Given the description of an element on the screen output the (x, y) to click on. 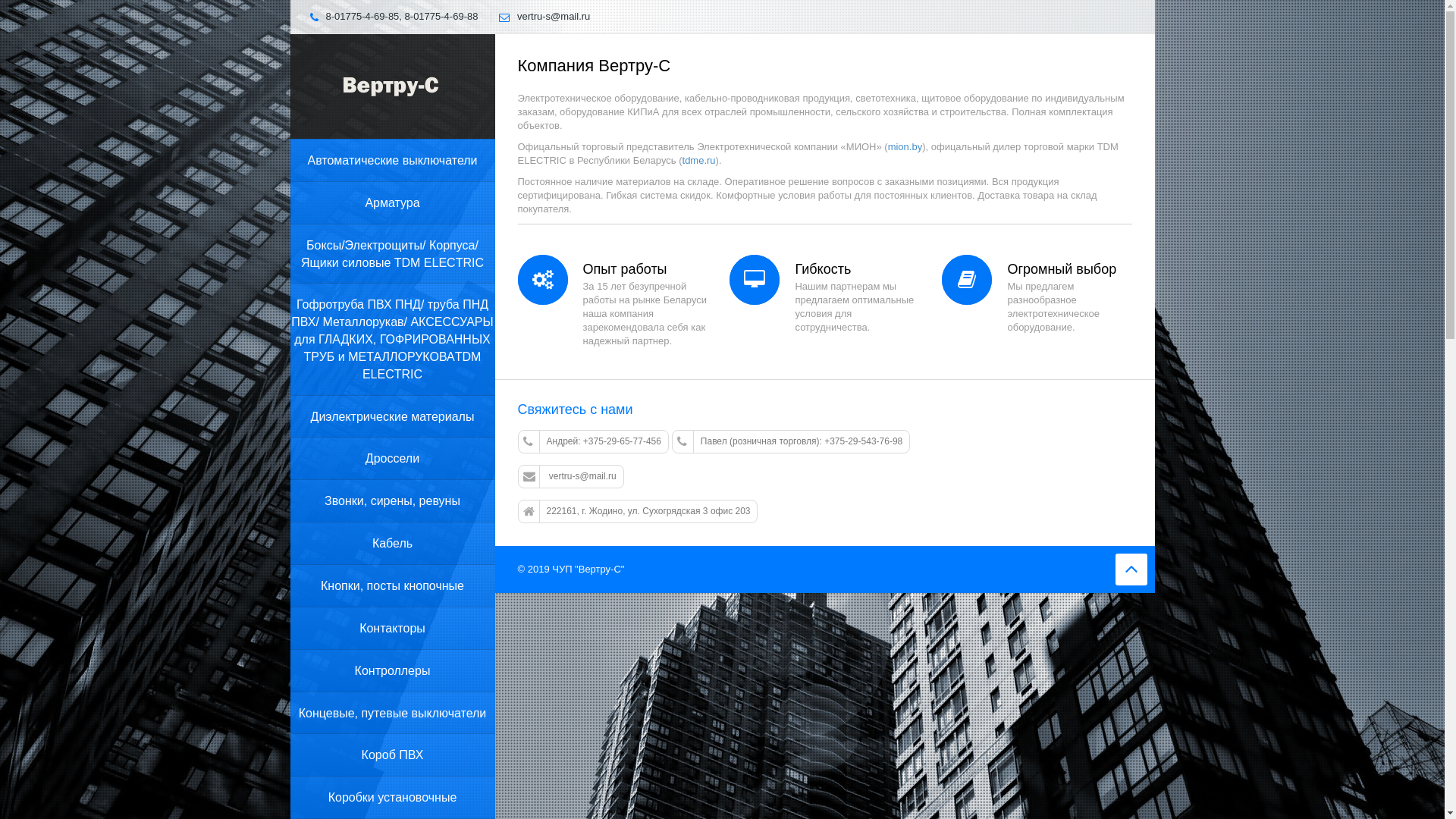
tdme.ru Element type: text (698, 160)
mion.by Element type: text (905, 146)
vertru-s@mail.ru Element type: text (570, 476)
